Given the description of an element on the screen output the (x, y) to click on. 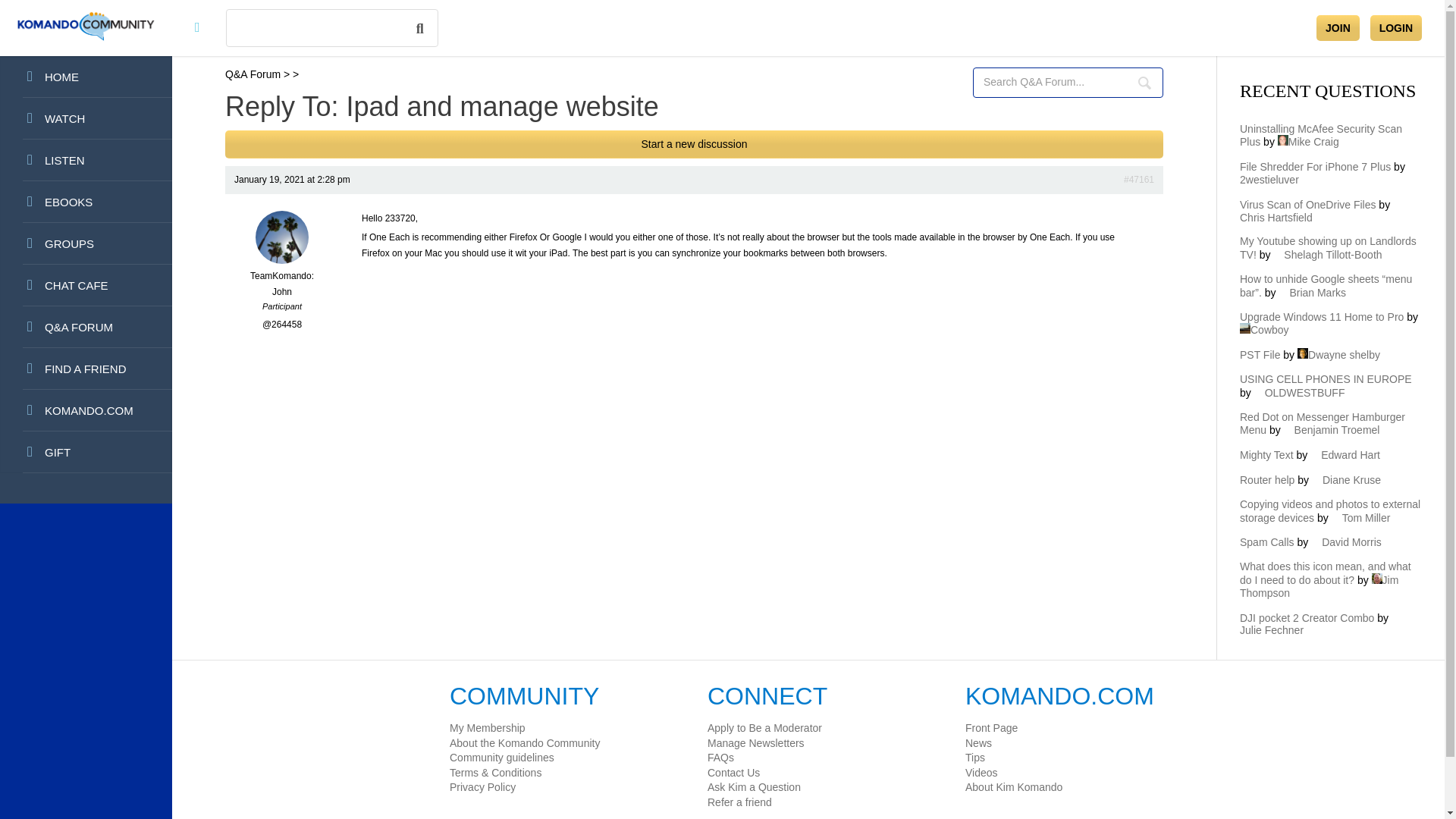
View Brian Marks's profile (1311, 292)
View Edward Hart's profile (1345, 454)
View Diane Kruse's profile (1345, 480)
View Chris Hartsfield's profile (1321, 211)
View TeamKomando:John's profile (282, 276)
Reply To: Ipad and manage website (1139, 179)
JOIN (1337, 27)
View David Morris's profile (1346, 541)
KOMANDO.COM (85, 410)
GROUPS (85, 243)
